Given the description of an element on the screen output the (x, y) to click on. 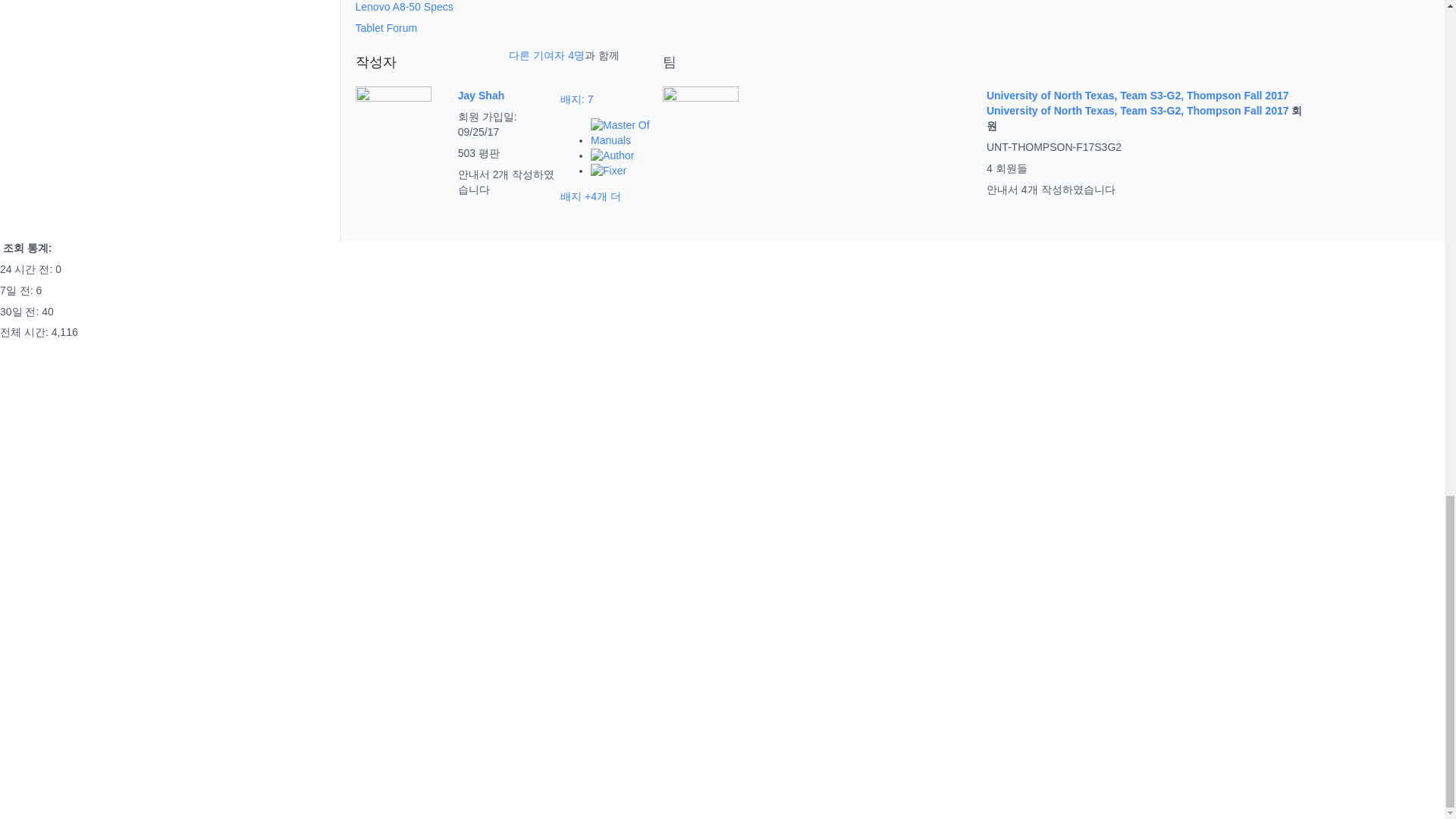
Tablet Forum (385, 28)
Lenovo A8-50 Specs (403, 6)
